Given the description of an element on the screen output the (x, y) to click on. 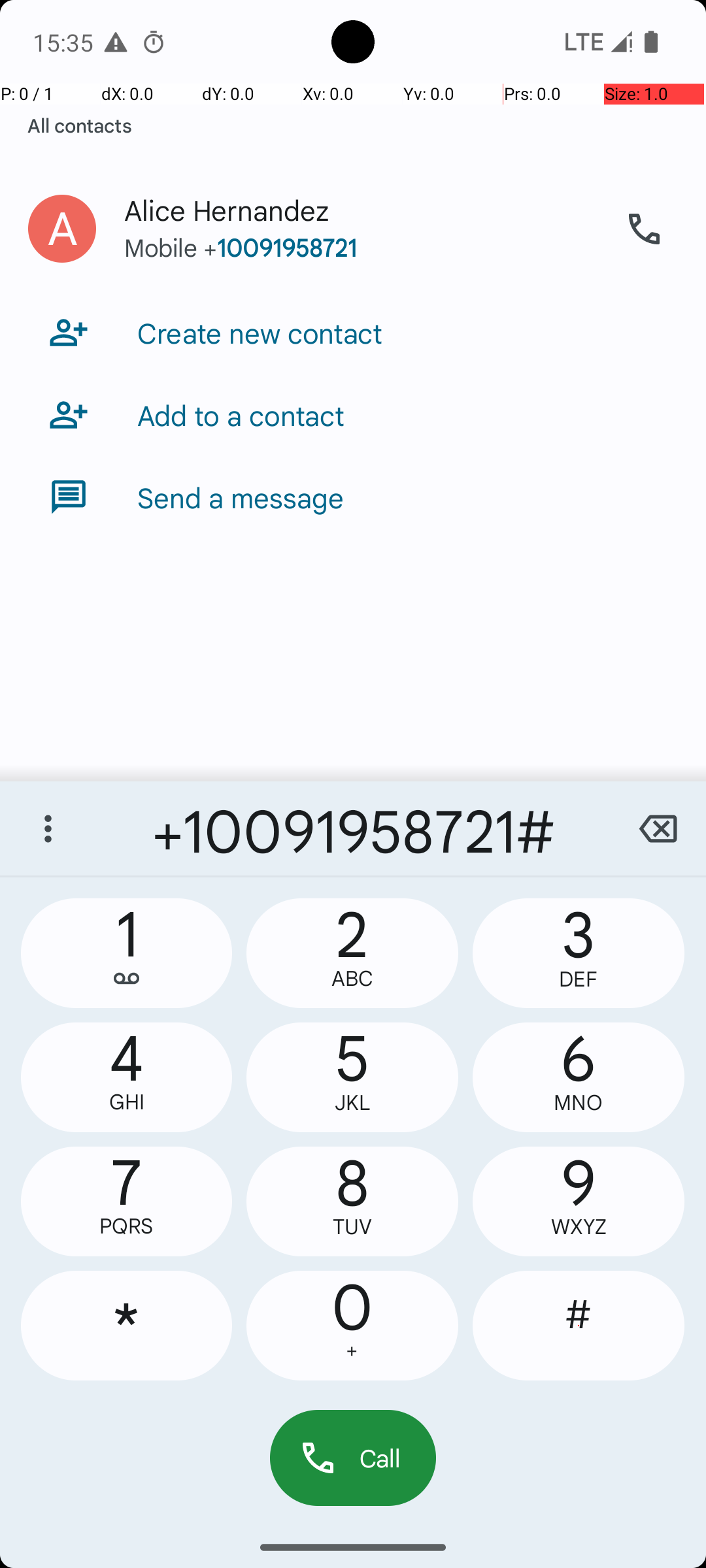
Call Element type: android.widget.Button (352, 1457)
+10091958721# Element type: android.widget.EditText (352, 828)
backspace Element type: android.widget.ImageButton (657, 828)
1, Element type: android.widget.FrameLayout (126, 953)
2,ABC Element type: android.widget.FrameLayout (352, 953)
3,DEF Element type: android.widget.FrameLayout (578, 953)
4,GHI Element type: android.widget.FrameLayout (126, 1077)
5,JKL Element type: android.widget.FrameLayout (352, 1077)
6,MNO Element type: android.widget.FrameLayout (578, 1077)
7,PQRS Element type: android.widget.FrameLayout (126, 1201)
8,TUV Element type: android.widget.FrameLayout (352, 1201)
9,WXYZ Element type: android.widget.FrameLayout (578, 1201)
* Element type: android.widget.FrameLayout (126, 1325)
ABC Element type: android.widget.TextView (351, 978)
DEF Element type: android.widget.TextView (578, 978)
GHI Element type: android.widget.TextView (126, 1101)
JKL Element type: android.widget.TextView (351, 1102)
MNO Element type: android.widget.TextView (578, 1102)
PQRS Element type: android.widget.TextView (126, 1225)
TUV Element type: android.widget.TextView (351, 1226)
WXYZ Element type: android.widget.TextView (578, 1226)
+ Element type: android.widget.TextView (351, 1351)
All contacts Element type: android.widget.TextView (79, 124)
Quick contact for Alice Hernandez Element type: android.widget.QuickContactBadge (62, 228)
Alice Hernandez Element type: android.widget.TextView (360, 197)
Mobile ‪+10091958721‬ Element type: android.widget.TextView (360, 260)
Create new contact Element type: android.widget.TextView (260, 332)
Add to a contact Element type: android.widget.TextView (240, 414)
Send a message Element type: android.widget.TextView (240, 496)
